Given the description of an element on the screen output the (x, y) to click on. 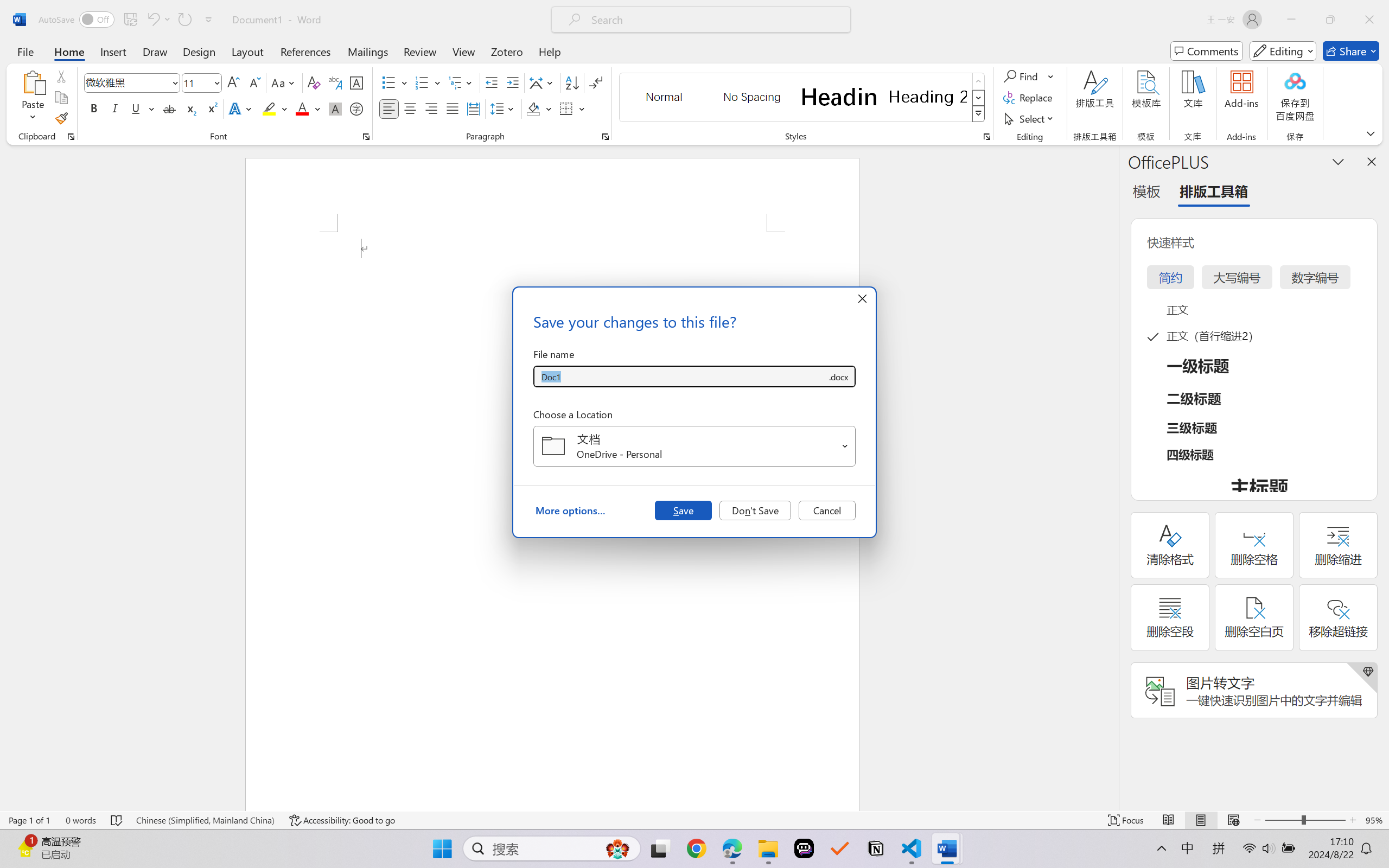
Zoom 50% (1365, 837)
Slide Title and Caption Layout: used by no slides (115, 210)
Czech (1231, 246)
Slide Vertical Title and Text Layout: used by no slides (115, 770)
